Given the description of an element on the screen output the (x, y) to click on. 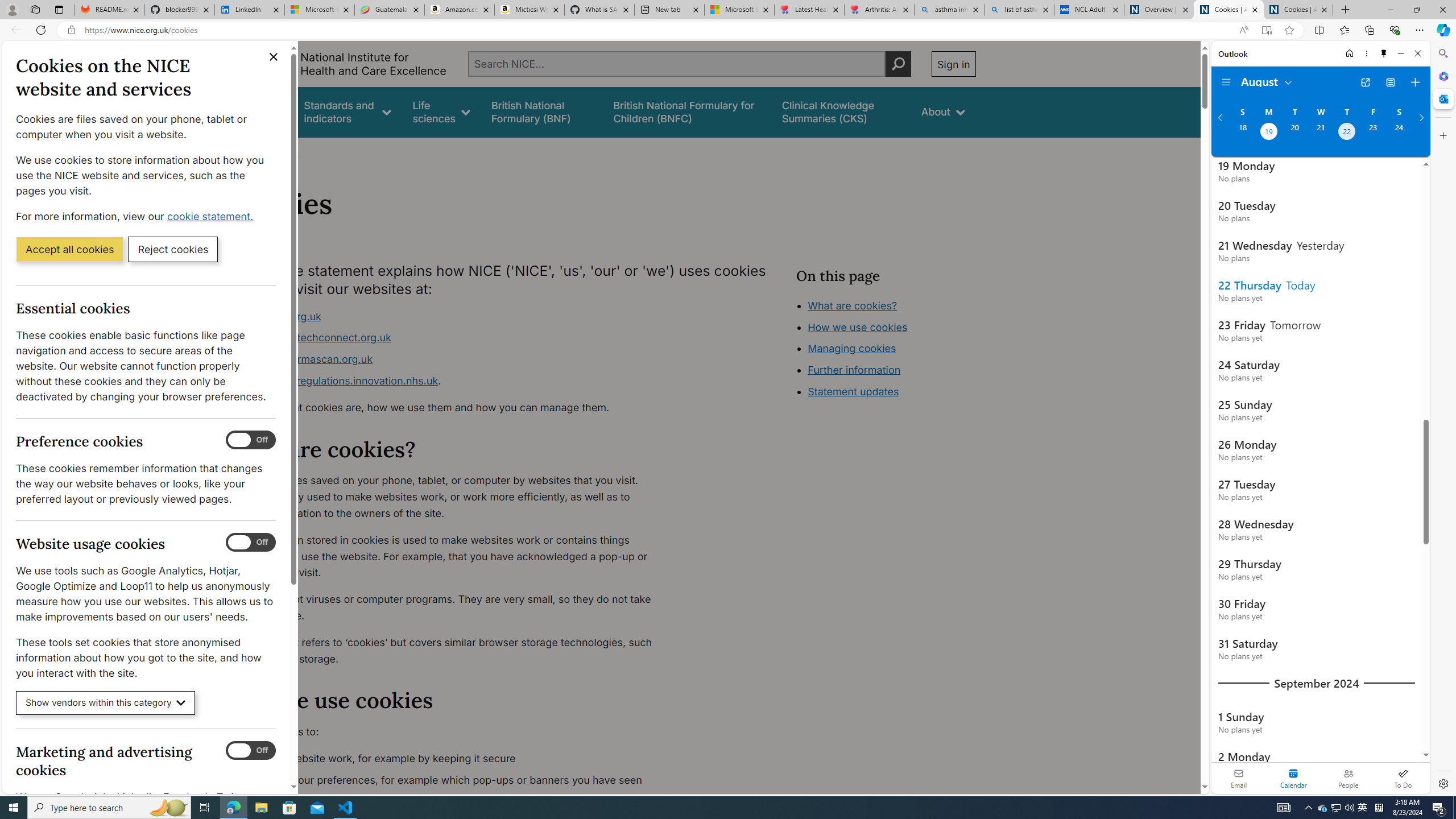
Home> (246, 152)
www.digitalregulations.innovation.nhs.uk (338, 380)
www.nice.org.uk (279, 315)
Statement updates (853, 391)
